Given the description of an element on the screen output the (x, y) to click on. 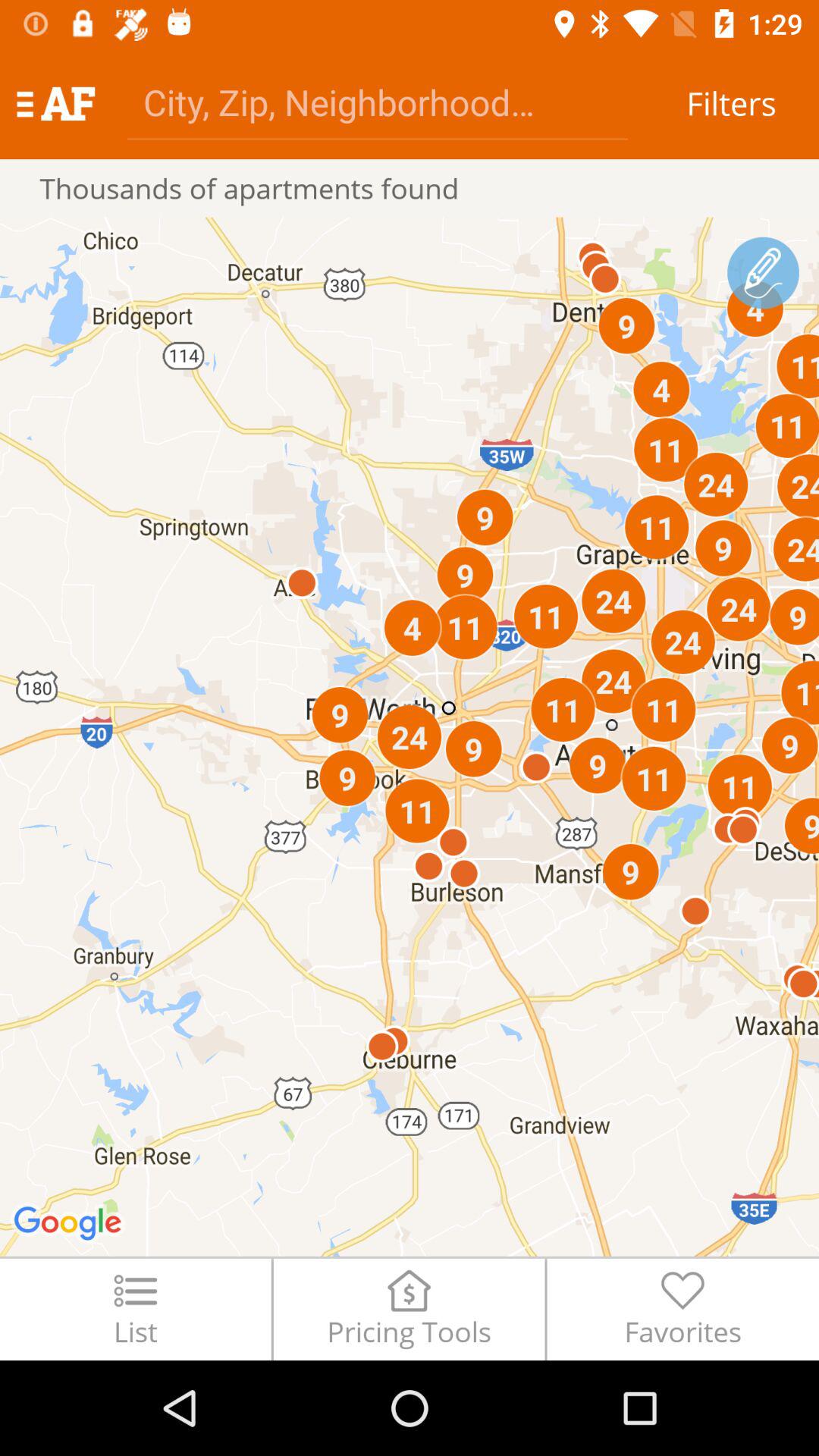
tap the item to the left of favorites icon (408, 1309)
